Given the description of an element on the screen output the (x, y) to click on. 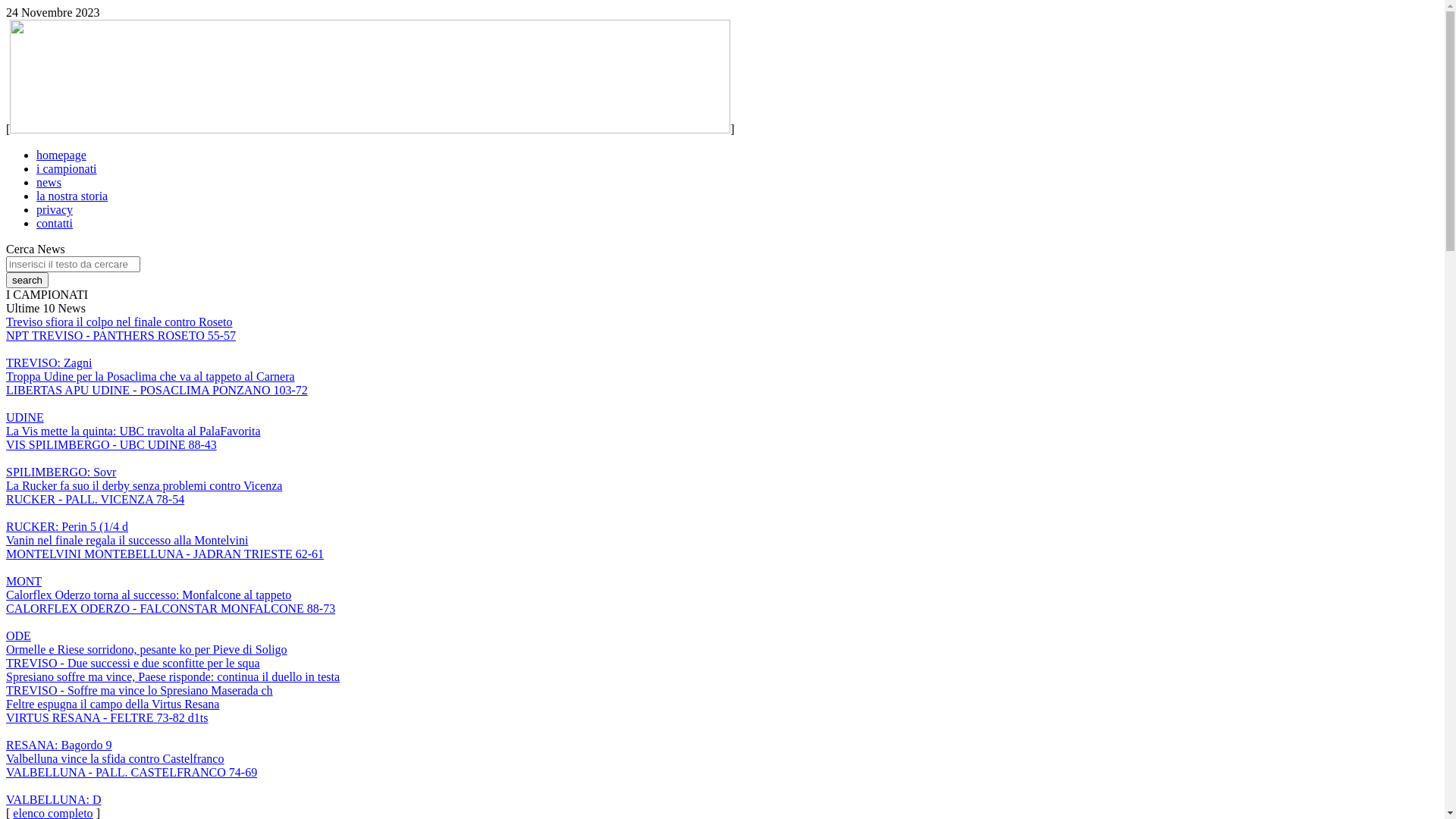
Feltre espugna il campo della Virtus Resana Element type: text (112, 703)
RUCKER - PALL. VICENZA 78-54

RUCKER: Perin 5 (1/4 d Element type: text (95, 512)
cerca[,] Element type: hover (27, 280)
NPT TREVISO - PANTHERS ROSETO 55-57

TREVISO: Zagni Element type: text (120, 349)
news Element type: text (48, 181)
VIS SPILIMBERGO - UBC UDINE 88-43

SPILIMBERGO: Sovr Element type: text (111, 458)
Valbelluna vince la sfida contro Castelfranco Element type: text (114, 758)
Ormelle e Riese sorridono, pesante ko per Pieve di Soligo Element type: text (146, 649)
i campionati Element type: text (66, 168)
index.php?c=3 Element type: hover (369, 128)
MONTELVINI MONTEBELLUNA - JADRAN TRIESTE 62-61

MONT Element type: text (164, 567)
contatti Element type: text (54, 222)
Troppa Udine per la Posaclima che va al tappeto al Carnera Element type: text (150, 376)
VALBELLUNA - PALL. CASTELFRANCO 74-69

VALBELLUNA: D Element type: text (131, 785)
La Vis mette la quinta: UBC travolta al PalaFavorita Element type: text (133, 430)
Calorflex Oderzo torna al successo: Monfalcone al tappeto Element type: text (148, 594)
Treviso sfiora il colpo nel finale contro Roseto Element type: text (119, 321)
homepage Element type: text (61, 154)
Vanin nel finale regala il successo alla Montelvini Element type: text (126, 539)
VIRTUS RESANA - FELTRE 73-82 d1ts

RESANA: Bagordo 9 Element type: text (106, 731)
CALORFLEX ODERZO - FALCONSTAR MONFALCONE 88-73

ODE Element type: text (170, 622)
search Element type: text (27, 280)
La Rucker fa suo il derby senza problemi contro Vicenza Element type: text (144, 485)
TREVISO - Due successi e due sconfitte per le squa Element type: text (133, 662)
la nostra storia Element type: text (71, 195)
TREVISO - Soffre ma vince lo Spresiano Maserada ch Element type: text (139, 690)
LIBERTAS APU UDINE - POSACLIMA PONZANO 103-72

UDINE Element type: text (156, 403)
privacy Element type: text (54, 209)
